Given the description of an element on the screen output the (x, y) to click on. 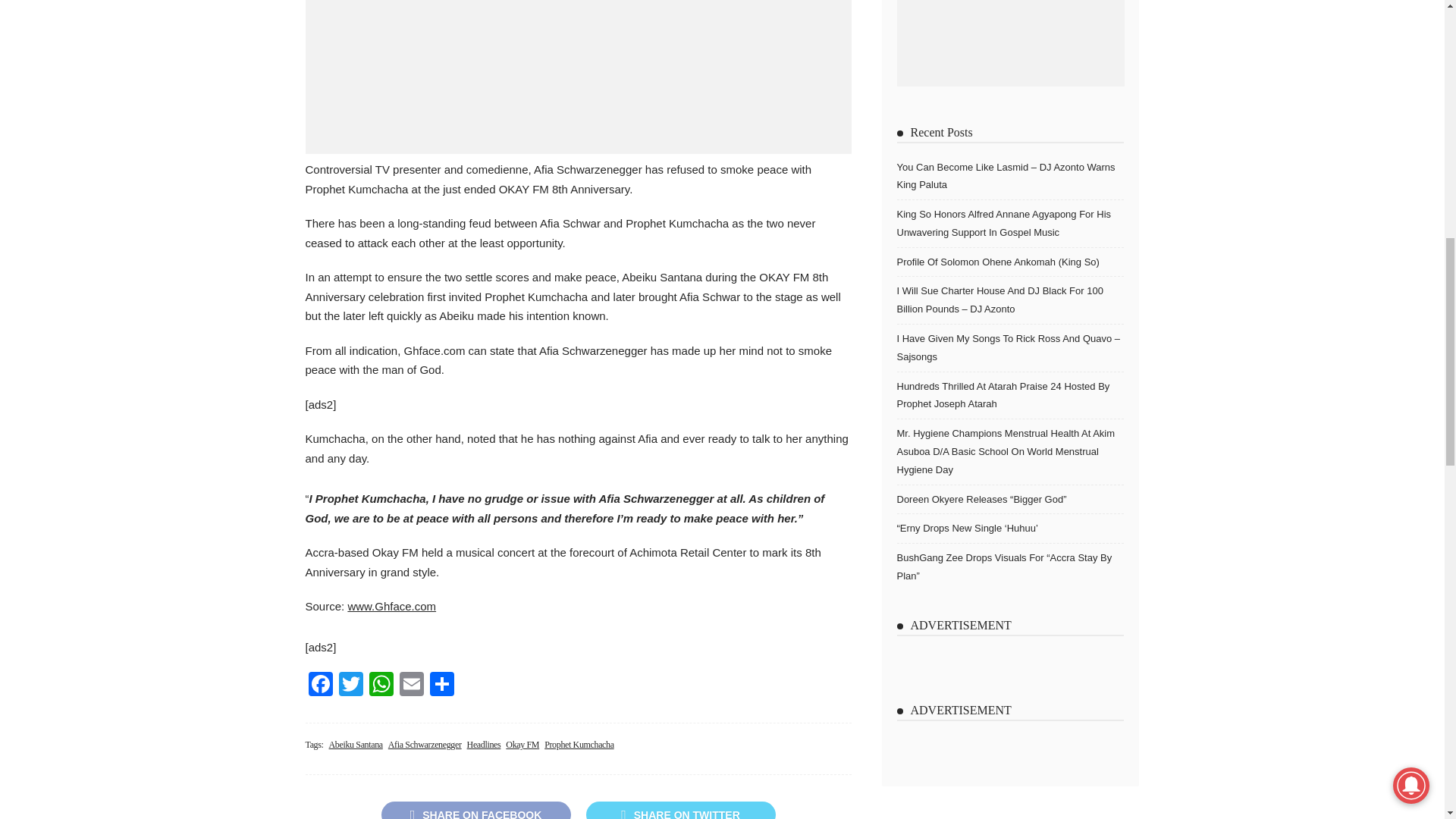
Twitter (349, 685)
Abeiku Santana (355, 744)
Email (411, 685)
Facebook (319, 685)
Advertisement (577, 76)
WhatsApp (380, 685)
Afia Schwarzenegger (424, 744)
